Given the description of an element on the screen output the (x, y) to click on. 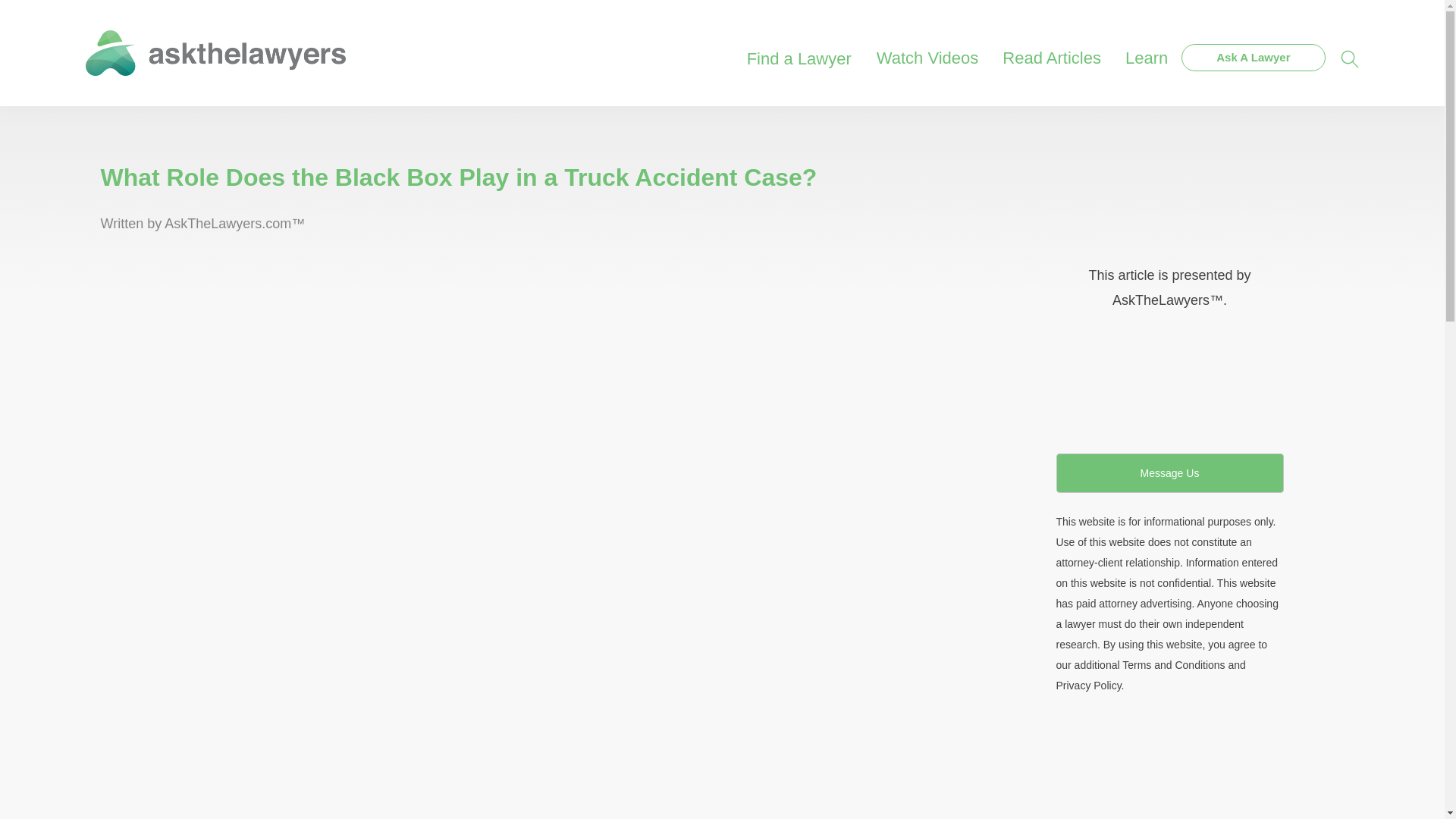
Search AskTheLawyers (1349, 58)
Learn (1146, 49)
Read Articles (1051, 49)
Watch Videos (927, 49)
